Given the description of an element on the screen output the (x, y) to click on. 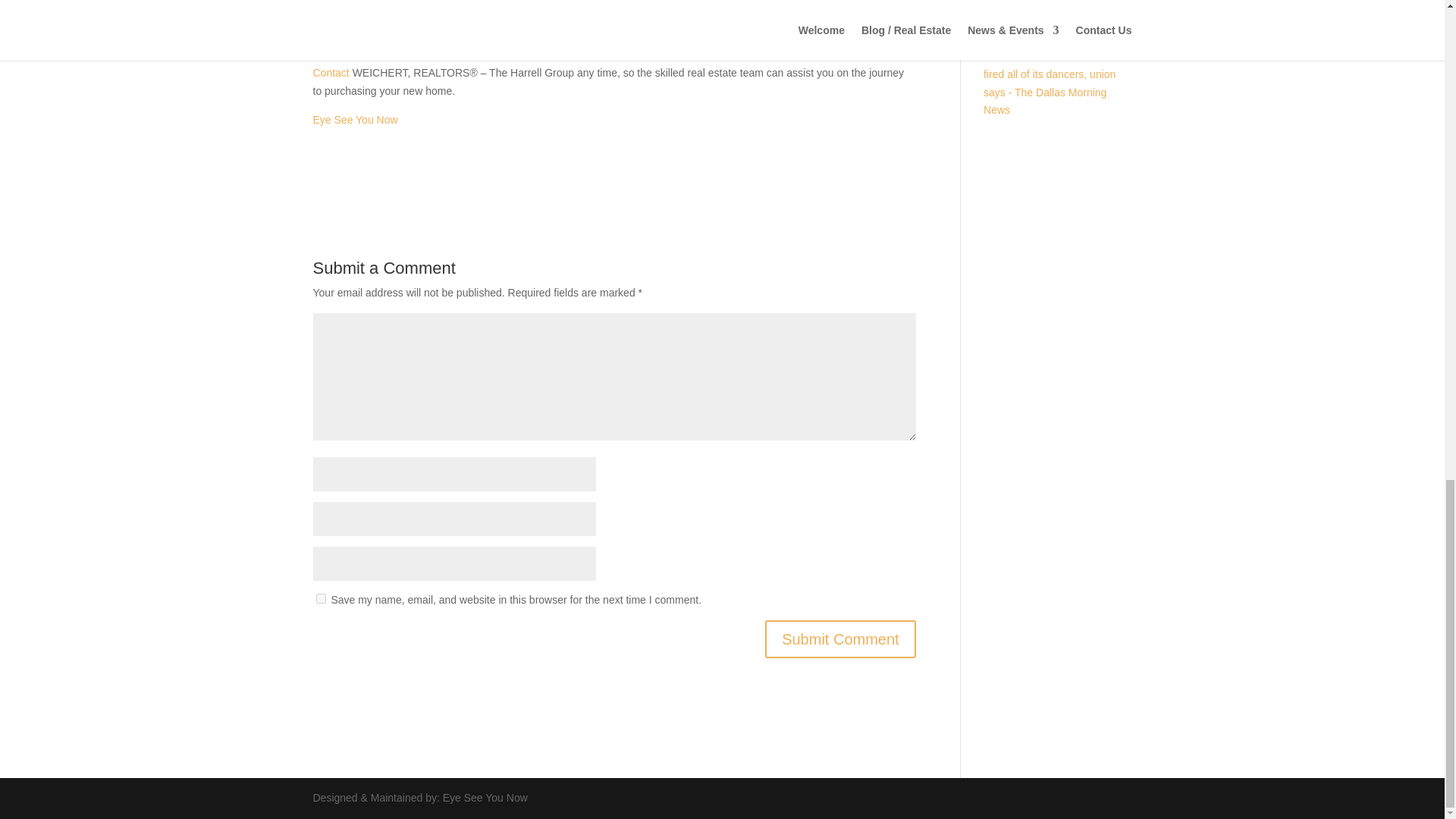
Submit Comment (840, 638)
yes (319, 598)
Contact (331, 72)
OTOCAST mobile app (588, 37)
Eye See You Now (355, 119)
Submit Comment (840, 638)
